Given the description of an element on the screen output the (x, y) to click on. 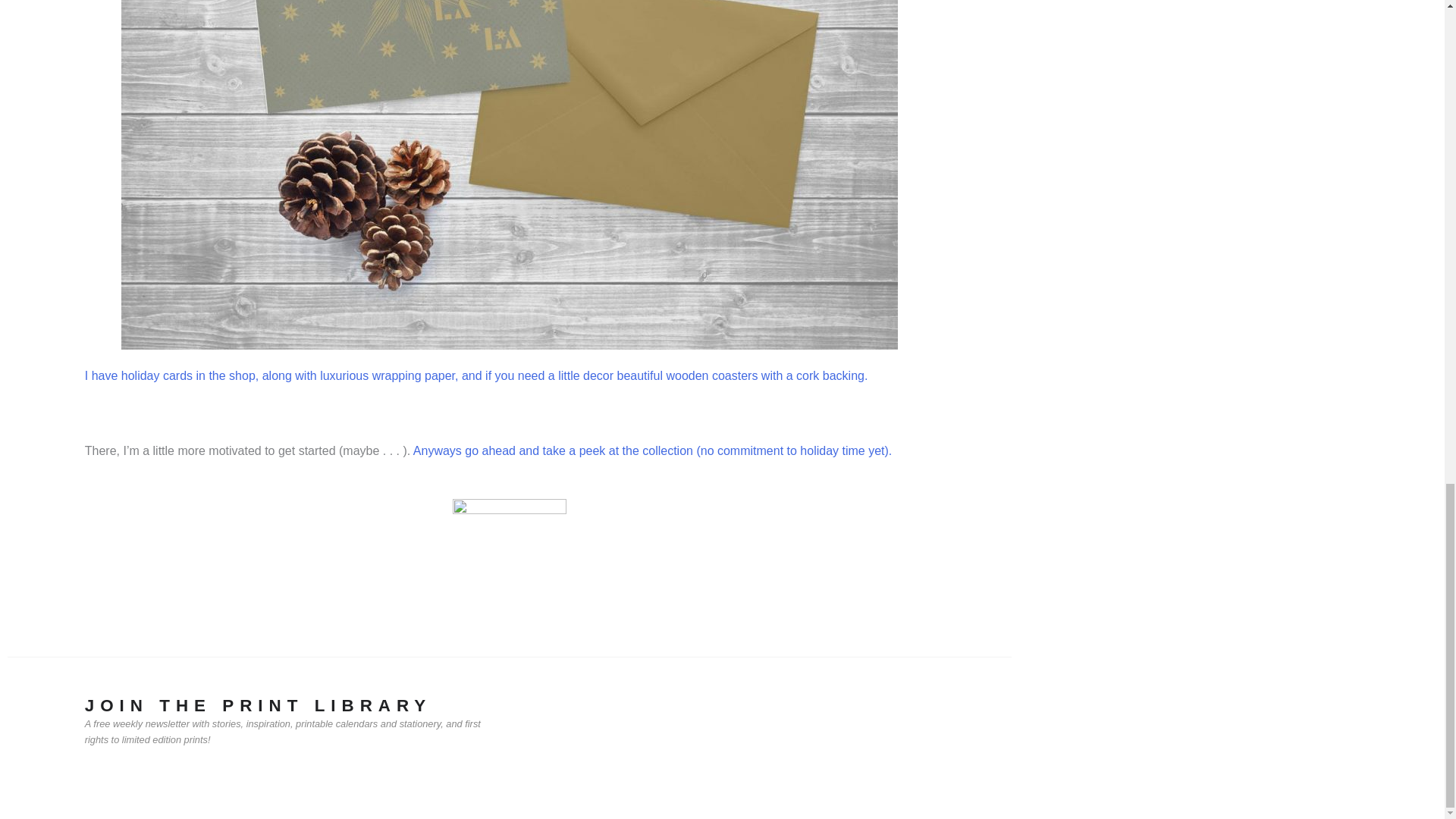
HOME (36, 677)
